Given the description of an element on the screen output the (x, y) to click on. 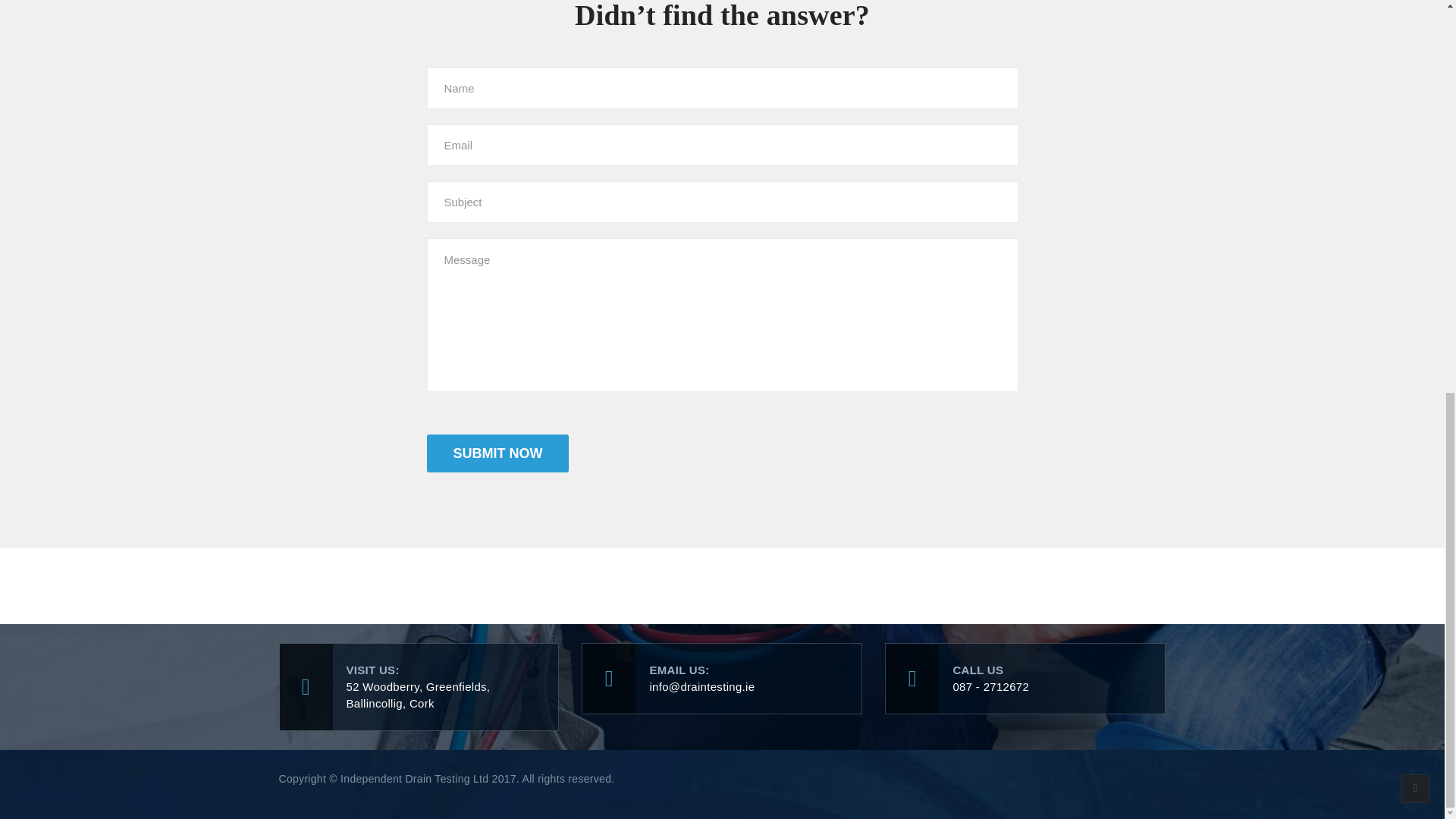
Submit Now (497, 453)
